Given the description of an element on the screen output the (x, y) to click on. 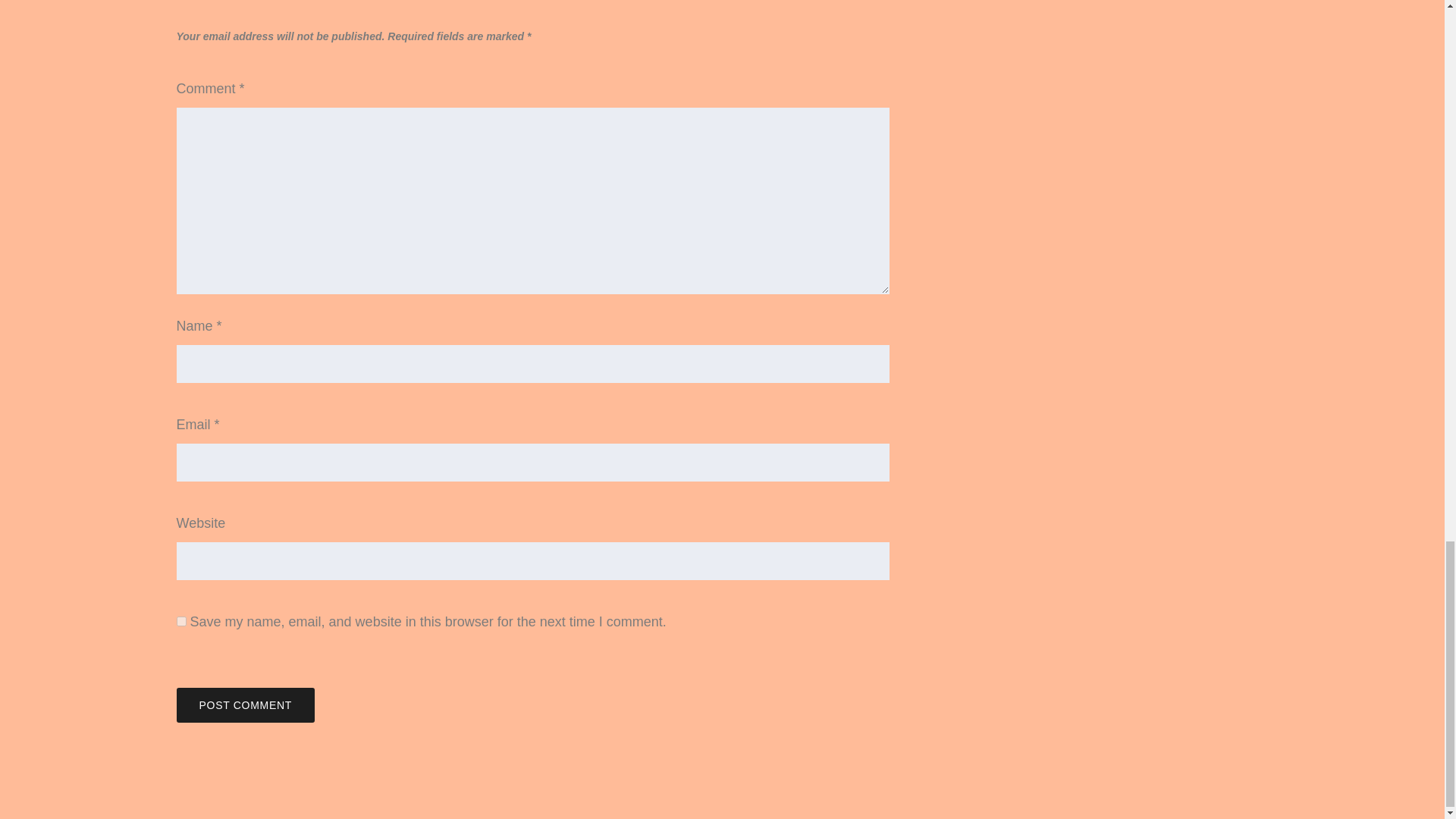
Post Comment (245, 704)
yes (181, 621)
Post Comment (245, 704)
